Given the description of an element on the screen output the (x, y) to click on. 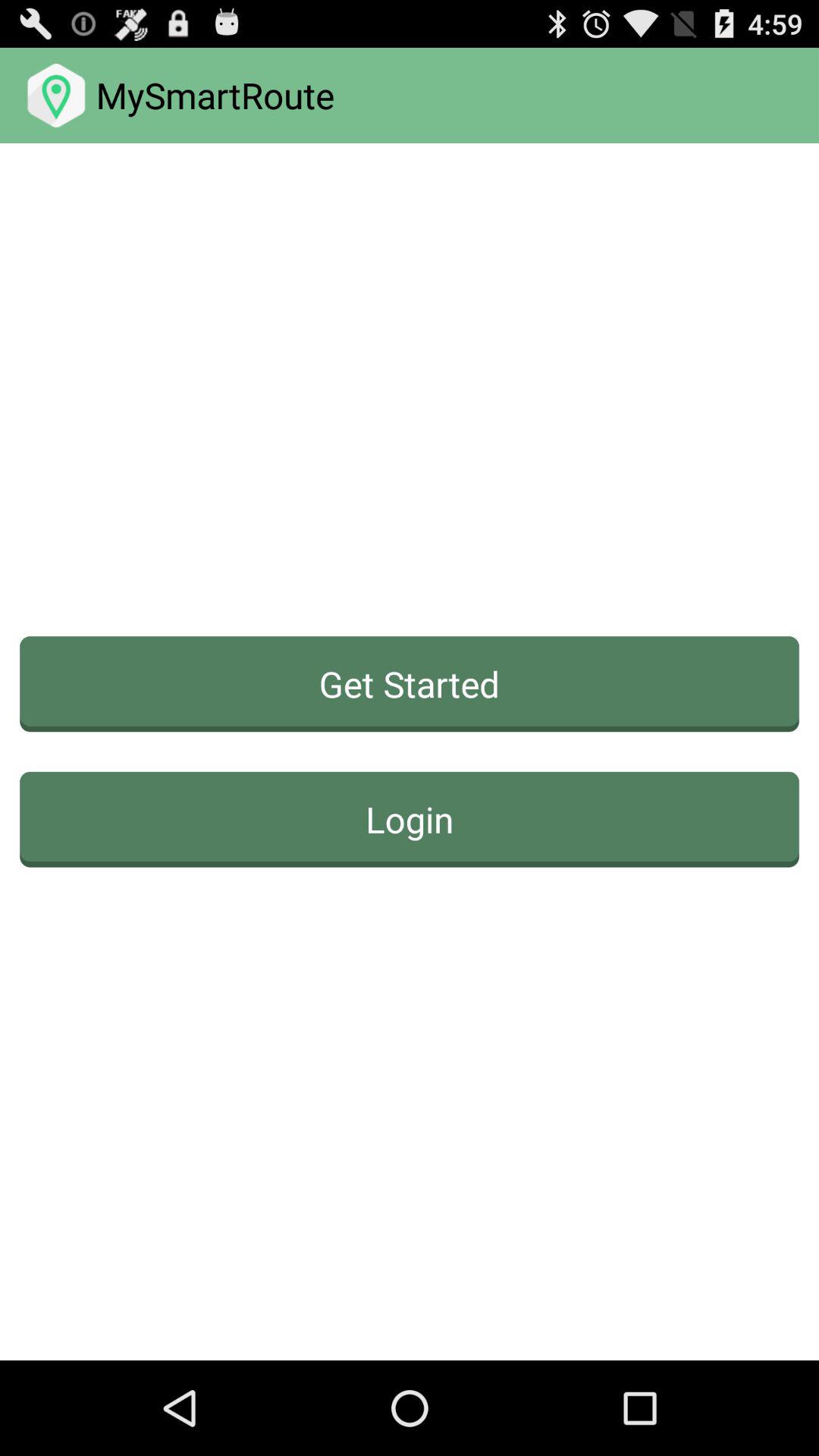
press get started (409, 683)
